Given the description of an element on the screen output the (x, y) to click on. 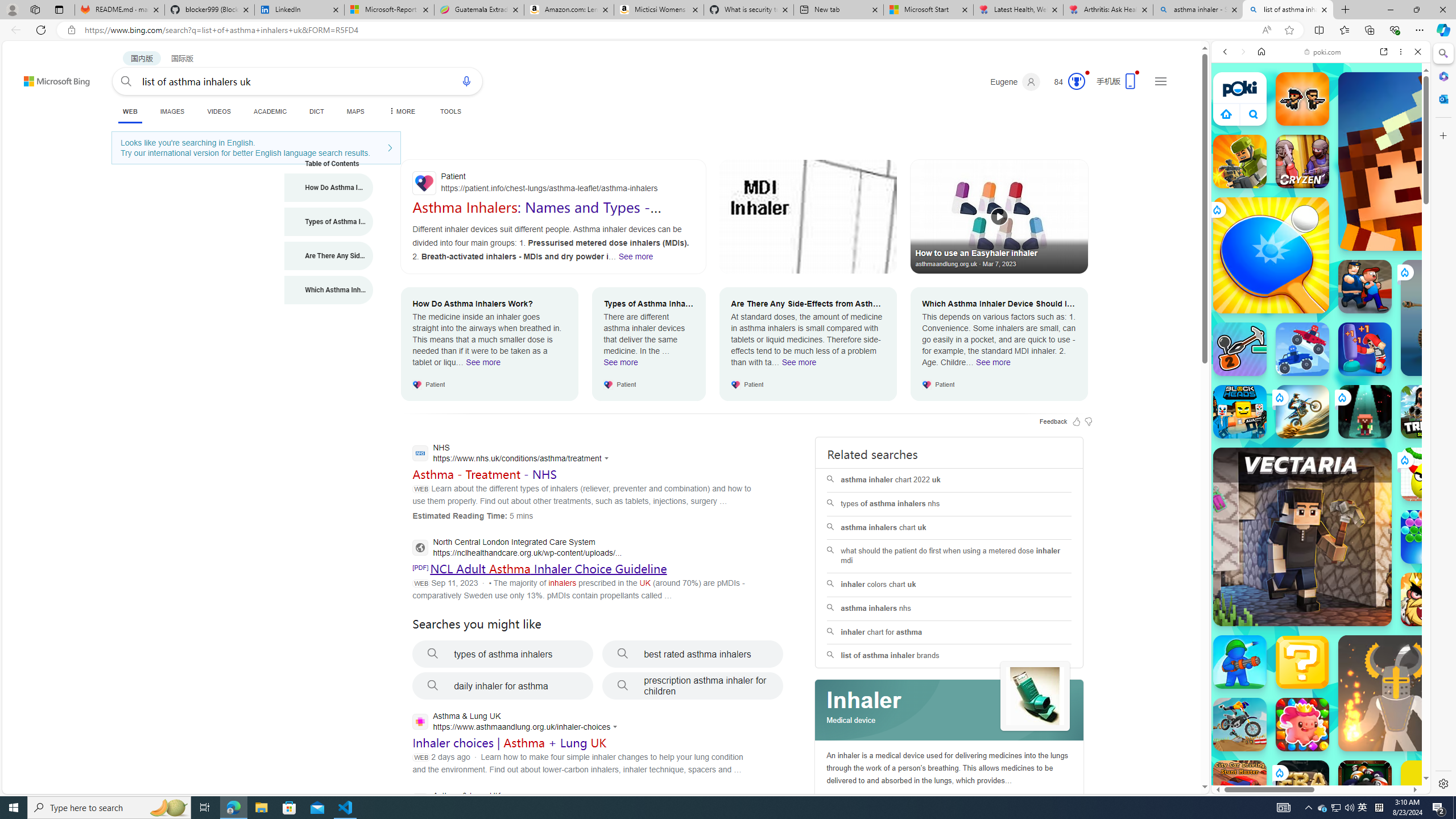
MAPS (355, 111)
Search using voice (465, 80)
Combat Reloaded (1348, 574)
WEB (129, 112)
Punch Legend Simulator Punch Legend Simulator (1364, 348)
LinkedIn (298, 9)
Like a King Like a King (1427, 599)
Zombie Rush (1302, 98)
Search more (1179, 753)
Actions for this site (617, 726)
best rated asthma inhalers (692, 653)
